Given the description of an element on the screen output the (x, y) to click on. 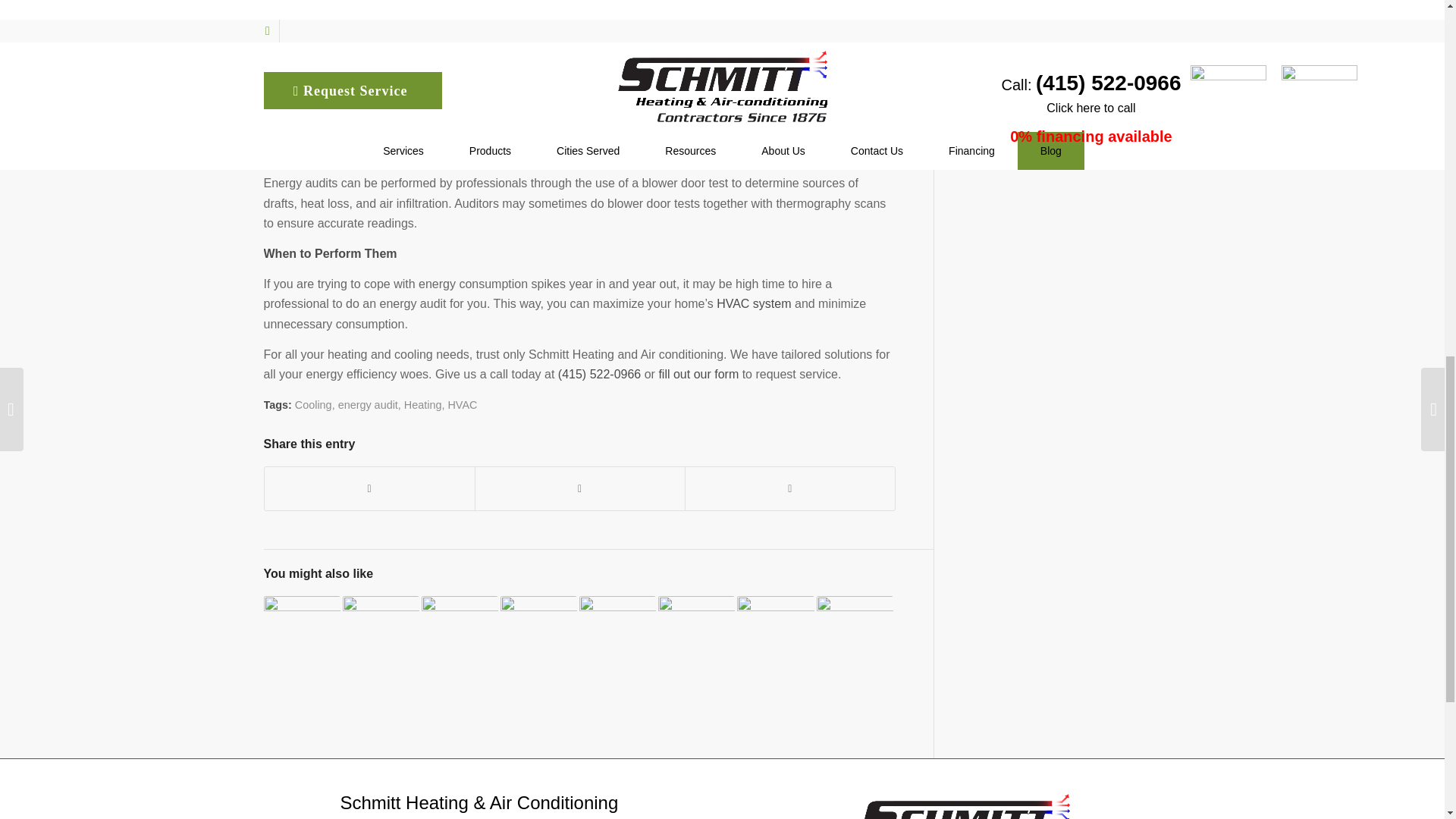
5 Ways to Improve Efficiency of Your AC Units (538, 634)
fill out our form (698, 373)
Cooling (313, 404)
The Different Types of Commercial Air Conditioning Systems (380, 634)
HVAC system (753, 303)
How to Avoid These 4 Common HVAC Scams (301, 634)
